Given the description of an element on the screen output the (x, y) to click on. 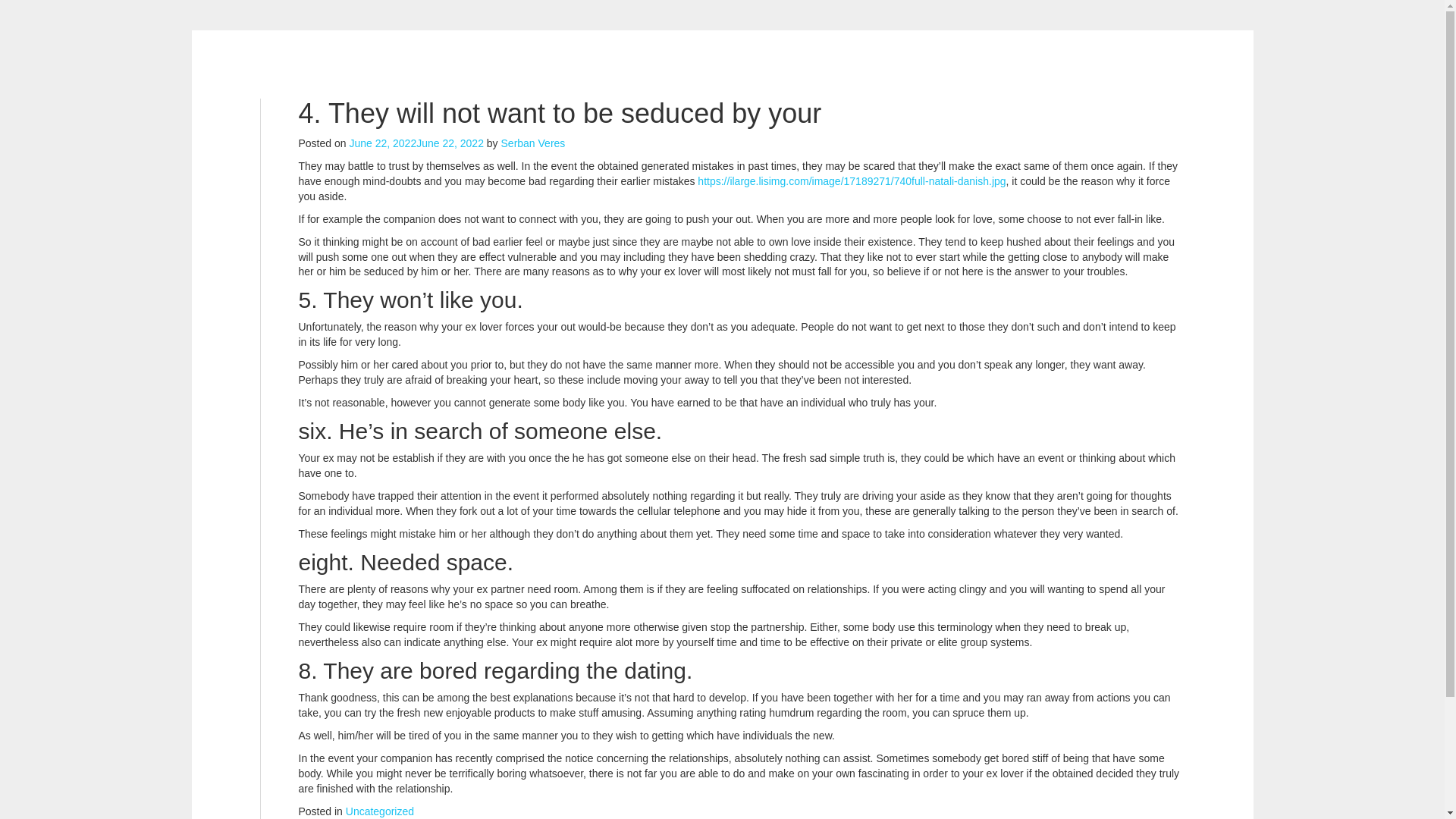
Serban Veres (533, 143)
Uncategorized (379, 811)
June 22, 2022June 22, 2022 (416, 143)
